Given the description of an element on the screen output the (x, y) to click on. 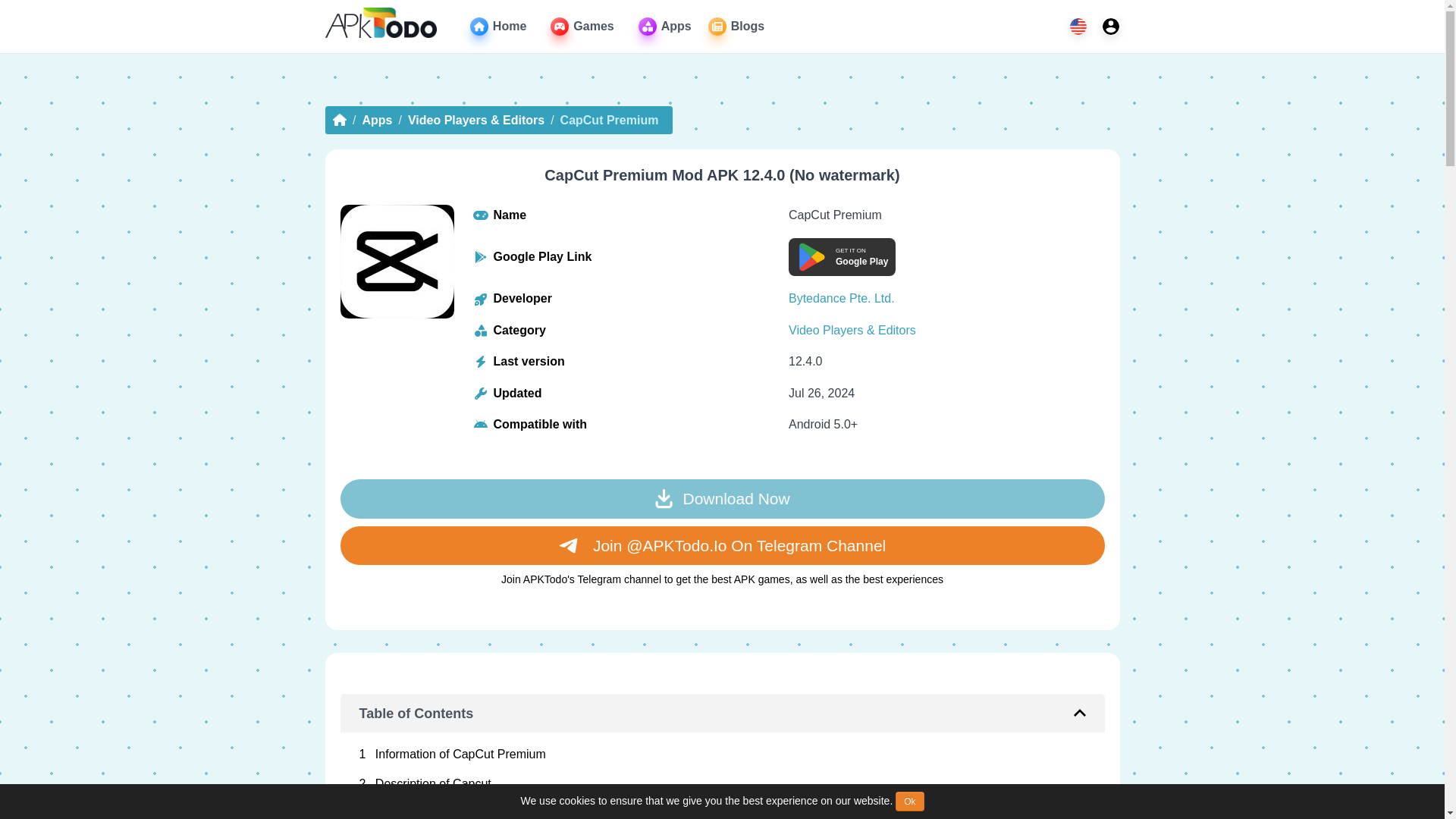
Home (497, 26)
Apps (376, 119)
1 Information of CapCut Premium (722, 754)
3 Features of Capcut (722, 808)
Apps (665, 26)
Home (497, 26)
2 Description of Capcut (722, 783)
Games (581, 26)
Apps (665, 26)
Games (581, 26)
Download Now (721, 498)
Bytedance Pte. Ltd. (842, 297)
Blogs (735, 26)
Blogs (842, 257)
